Given the description of an element on the screen output the (x, y) to click on. 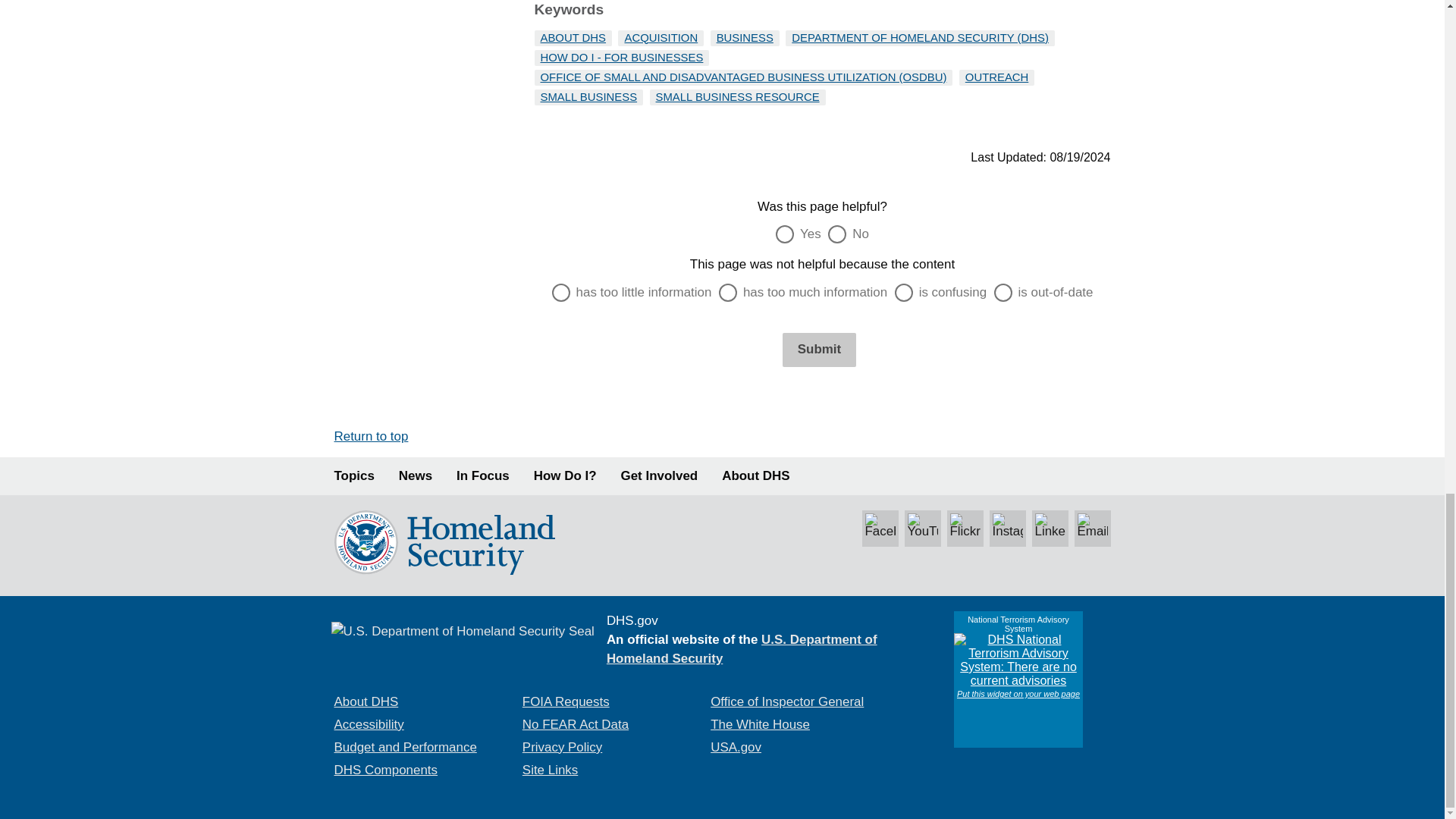
USA.gov (735, 747)
OUTREACH (996, 77)
Office of the Inspector General (786, 701)
Get Involved (659, 476)
DHS Components (385, 769)
Topics (353, 476)
HOW DO I - FOR BUSINESSES (621, 57)
The White House (759, 724)
Submit (819, 349)
ACQUISITION (660, 37)
